Given the description of an element on the screen output the (x, y) to click on. 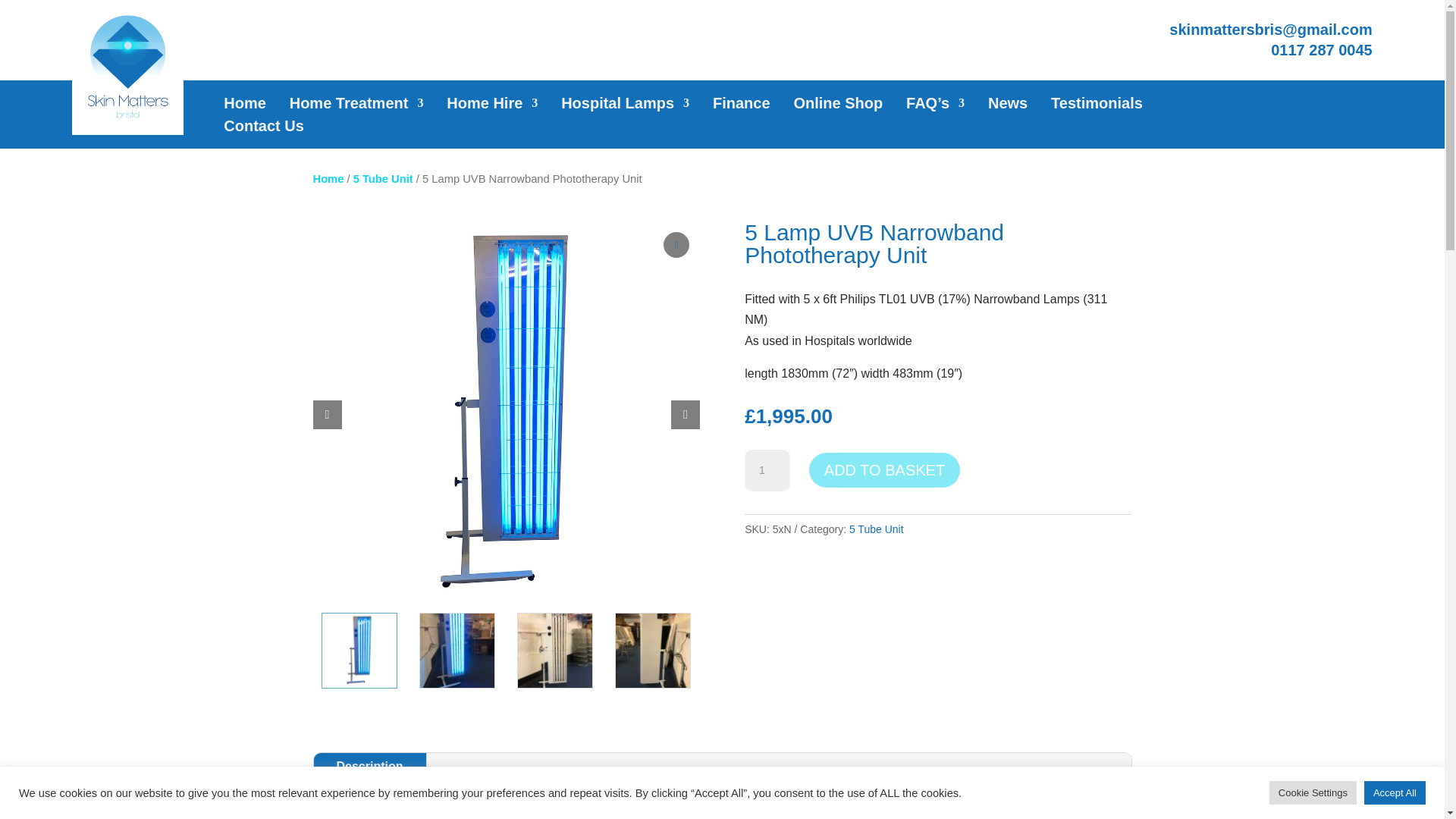
Contact Us (264, 128)
News (1007, 105)
Testimonials (1096, 105)
Home Hire (491, 105)
Home Treatment (356, 105)
1 (767, 470)
Finance (741, 105)
Online Shop (837, 105)
Hospital Lamps (624, 105)
0117 287 0045 (1321, 49)
